Given the description of an element on the screen output the (x, y) to click on. 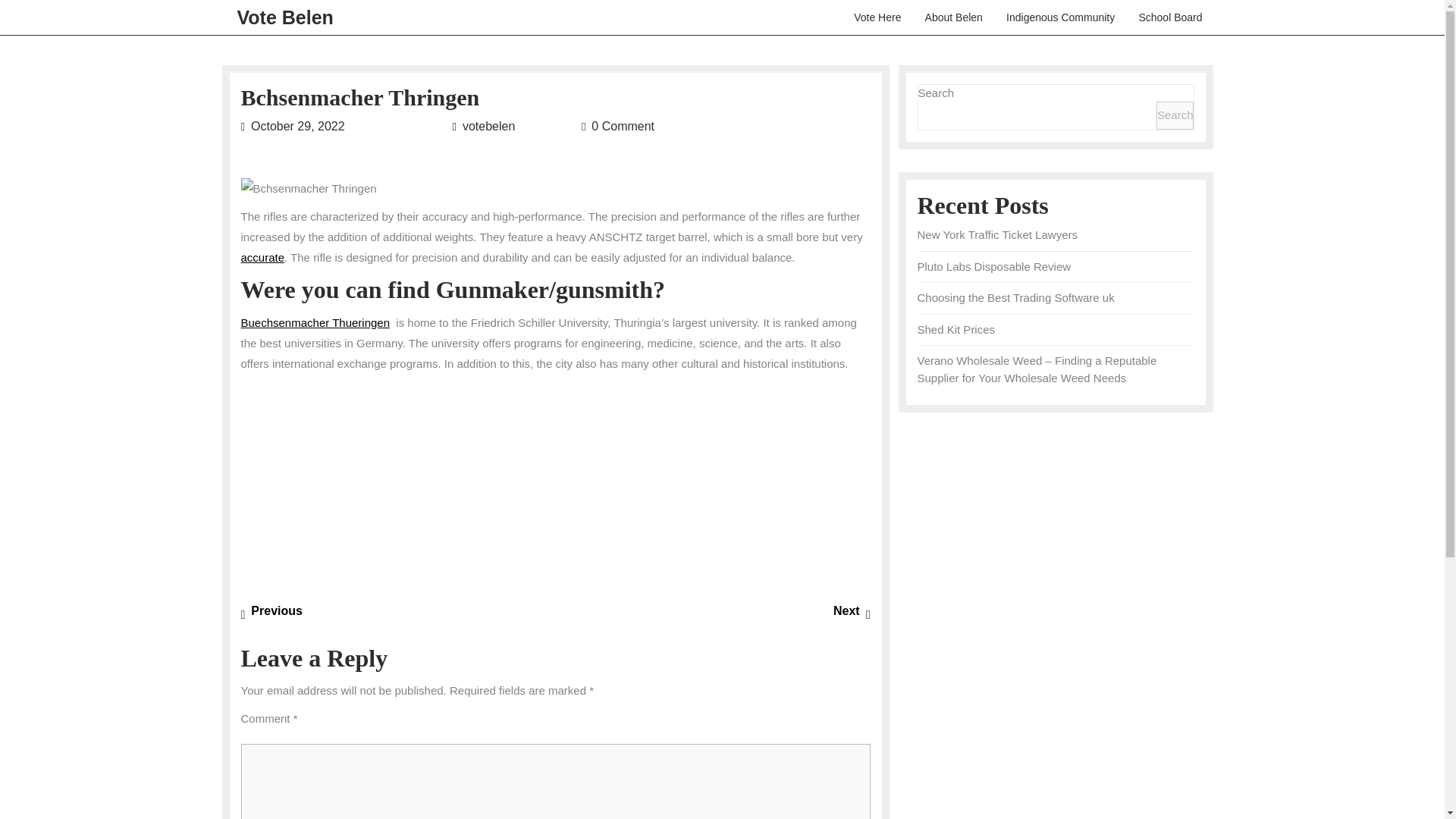
Vote Here (878, 17)
School Board (1170, 17)
About Belen (954, 17)
Search (1174, 115)
Buechsenmacher Thueringen (315, 322)
New York Traffic Ticket Lawyers (271, 610)
Shed Kit Prices (997, 234)
October 29, 2022October 29, 2022 (956, 328)
Pluto Labs Disposable Review (343, 125)
votebelenvotebelen (994, 266)
Vote Belen (514, 125)
accurate (851, 610)
Indigenous Community (284, 16)
